Given the description of an element on the screen output the (x, y) to click on. 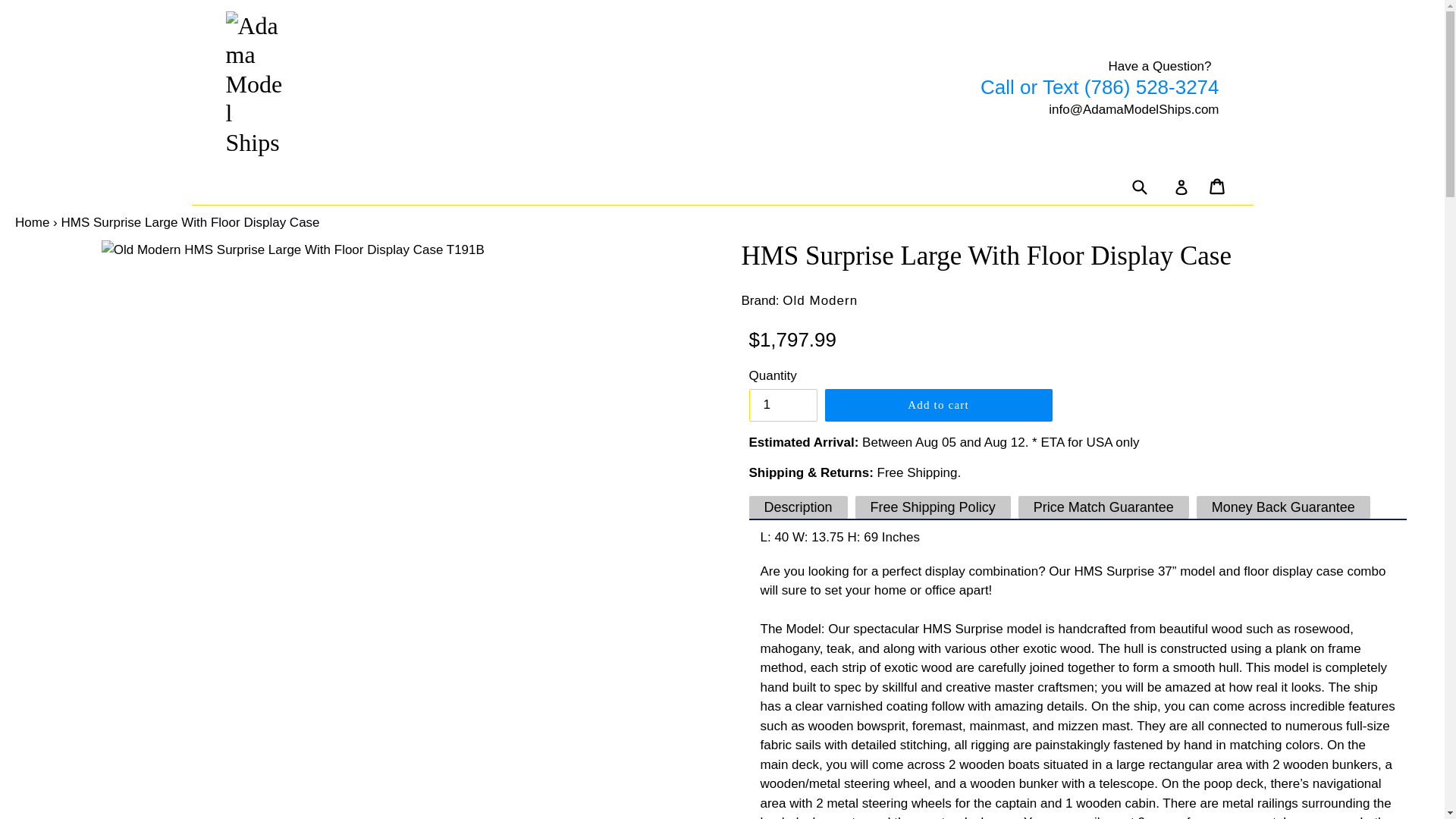
1 (782, 404)
Home (31, 222)
Add to cart (938, 405)
Home (31, 222)
Description (798, 507)
